Given the description of an element on the screen output the (x, y) to click on. 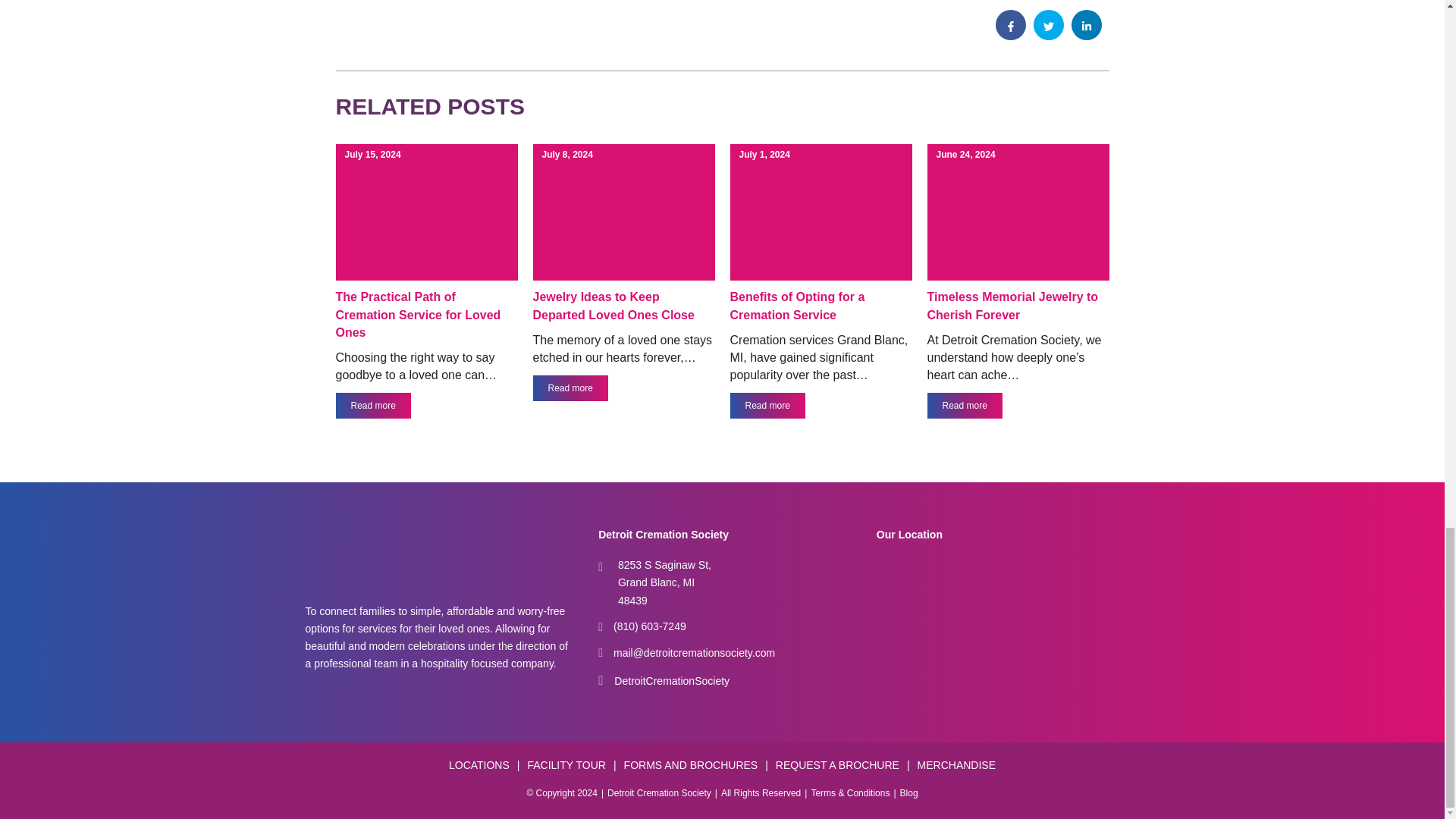
dcs-logo-colored (423, 556)
The Practical Path of Cremation Service for Loved Ones (417, 314)
Timeless Memorial Jewelry to Cherish Forever (1011, 305)
Jewelry Ideas to Keep Departed Loved Ones Close (613, 305)
Benefits of Opting for a Cremation Service (796, 305)
